Given the description of an element on the screen output the (x, y) to click on. 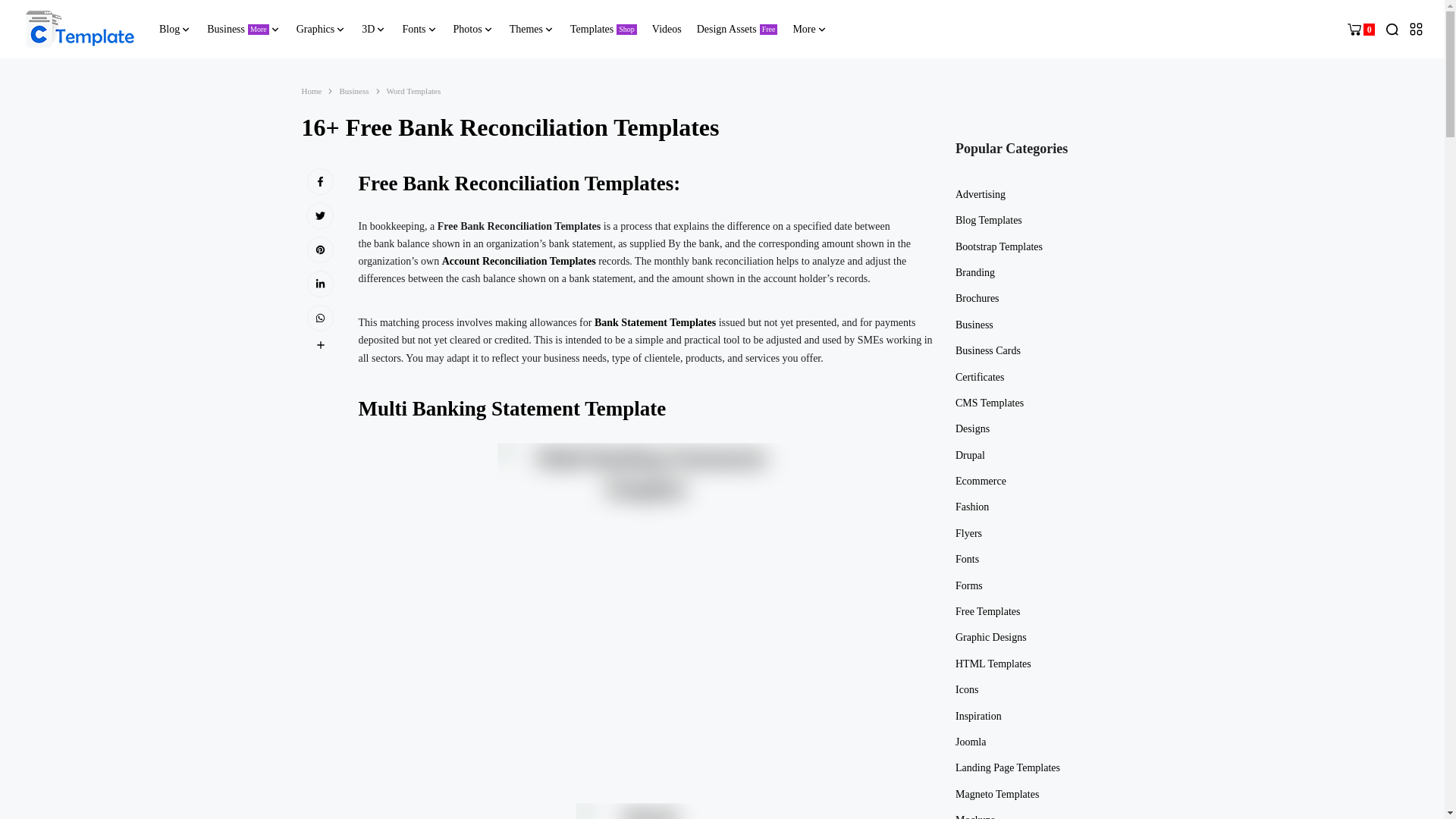
CreativeTemplate (79, 28)
Cart (1360, 28)
